Given the description of an element on the screen output the (x, y) to click on. 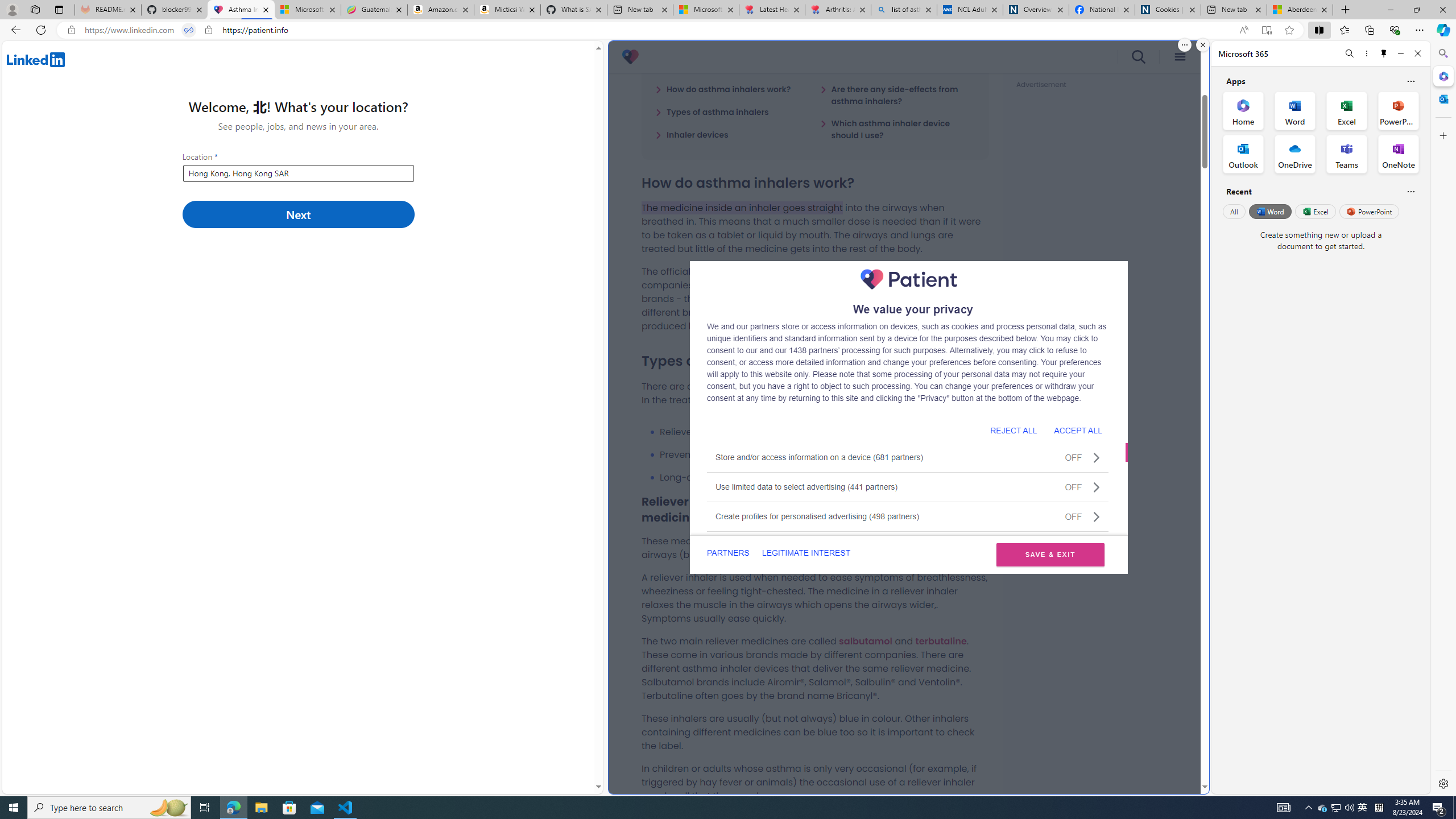
Word (1269, 210)
PARTNERS (728, 552)
Enter Immersive Reader (F9) (1266, 29)
Use limited data to select advertising (441 partners)OFF (907, 486)
terbutaline (940, 640)
NCL Adult Asthma Inhaler Choice Guideline (969, 9)
Cookies | About | NICE (1167, 9)
Inhaler devices (691, 134)
